Given the description of an element on the screen output the (x, y) to click on. 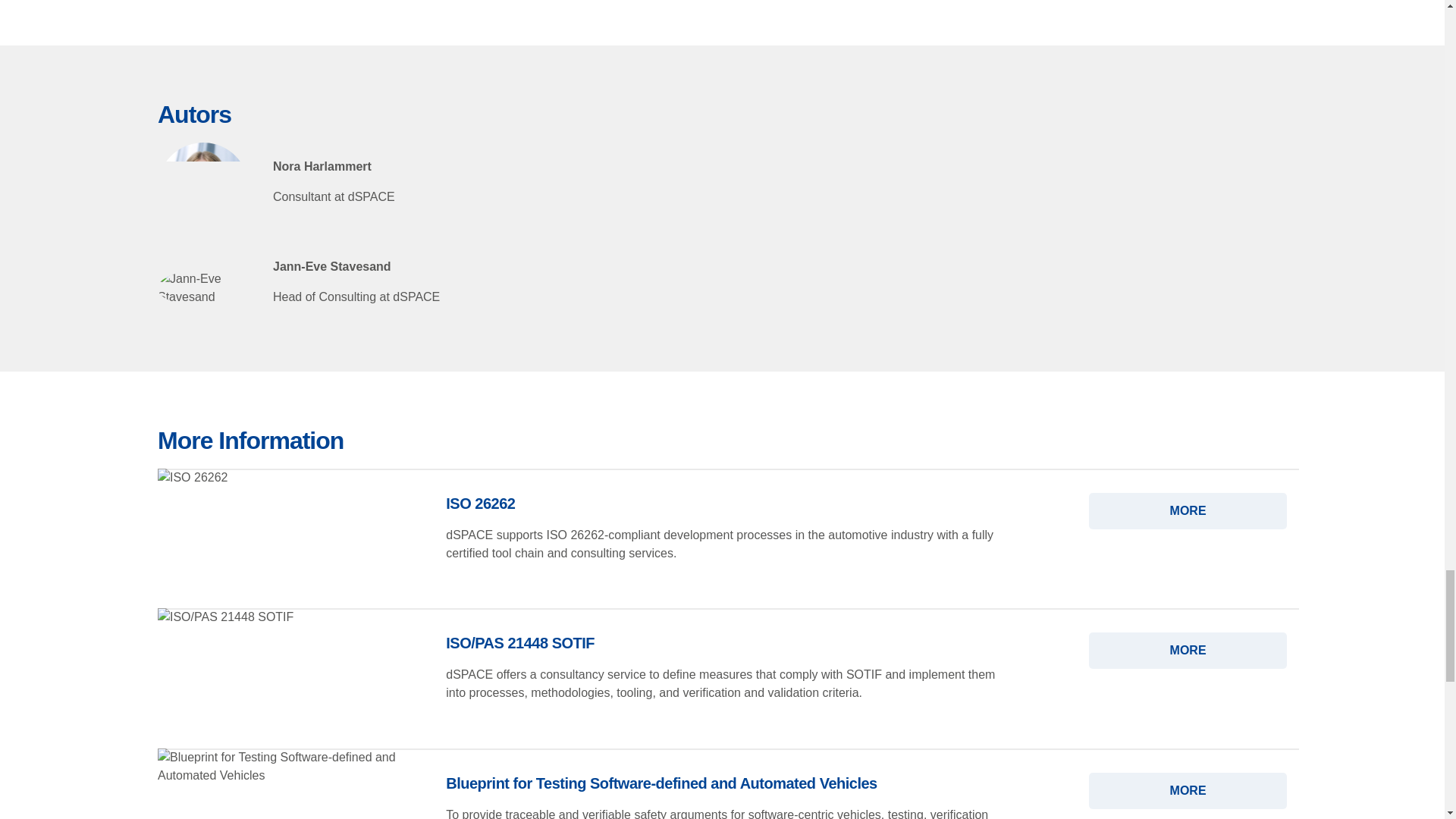
MORE (1188, 511)
MORE (1188, 650)
ISO 26262 (1188, 511)
MORE (1188, 791)
